Given the description of an element on the screen output the (x, y) to click on. 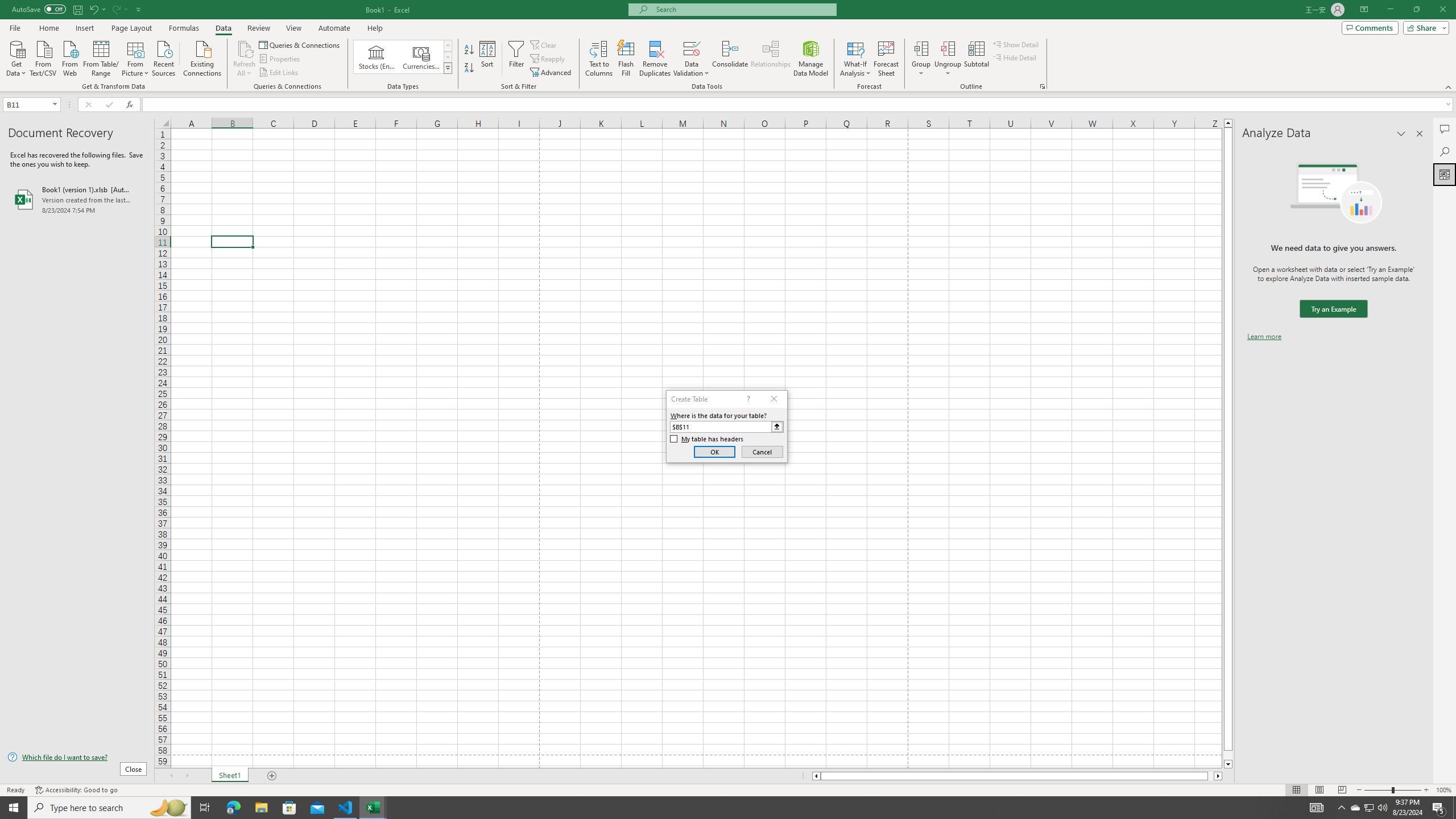
Existing Connections (202, 57)
Reapply (548, 58)
What-If Analysis (855, 58)
Get Data (16, 57)
Row up (448, 45)
Flash Fill (625, 58)
